Given the description of an element on the screen output the (x, y) to click on. 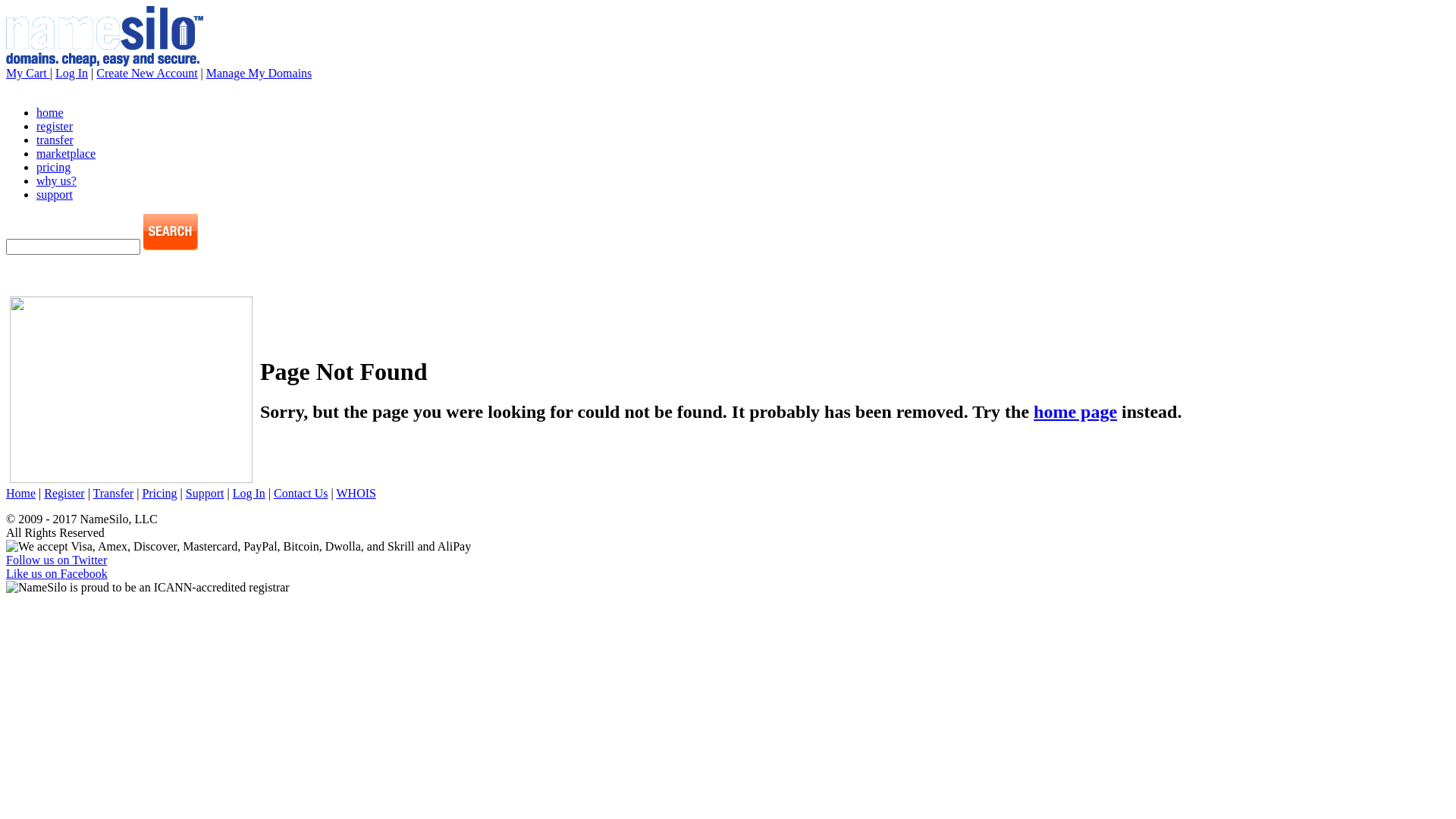
marketplace Element type: text (65, 153)
Support Element type: text (204, 492)
Register Element type: text (63, 492)
register Element type: text (54, 125)
My Cart Element type: text (28, 72)
transfer Element type: text (54, 139)
home Element type: text (49, 112)
NameSilo is proud to be an ICANN-accredited registrar Element type: hover (147, 587)
Home Element type: text (20, 492)
Log In Element type: text (248, 492)
Pricing Element type: text (158, 492)
support Element type: text (54, 194)
why us? Element type: text (56, 180)
Like us on Facebook Element type: text (56, 573)
WHOIS Element type: text (355, 492)
Create New Account Element type: text (146, 72)
Log In Element type: text (71, 72)
Contact Us Element type: text (300, 492)
Manage My Domains Element type: text (259, 72)
Transfer Element type: text (113, 492)
Follow us on Twitter Element type: text (56, 559)
home page Element type: text (1075, 411)
pricing Element type: text (53, 166)
